Given the description of an element on the screen output the (x, y) to click on. 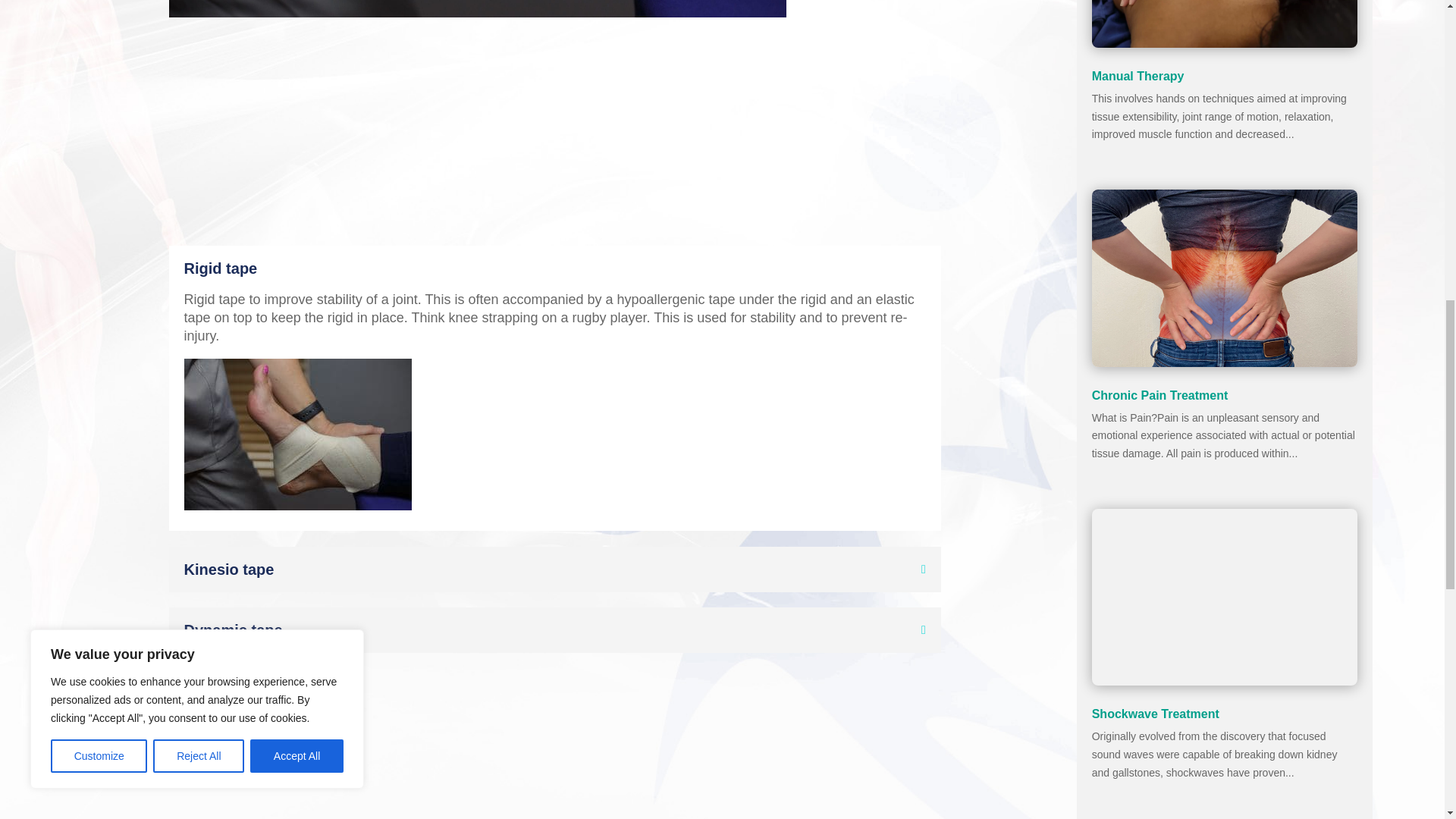
strapping (477, 8)
